Given the description of an element on the screen output the (x, y) to click on. 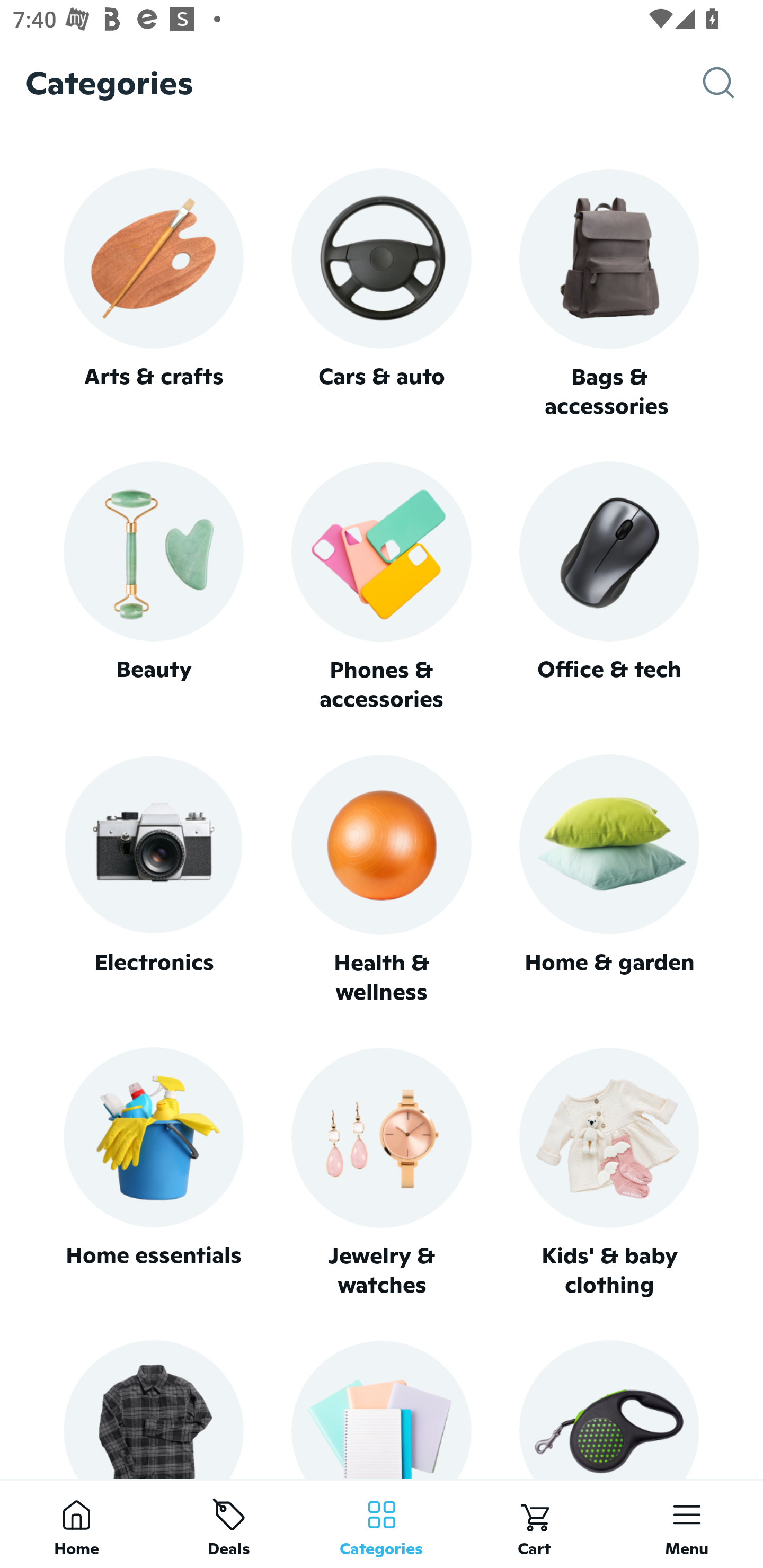
Search (732, 82)
Arts & crafts (153, 293)
Cars & auto (381, 293)
Bags & accessories  (609, 294)
Beauty (153, 586)
Office & tech (609, 586)
Phones & accessories (381, 587)
Electronics (153, 880)
Home & garden (609, 880)
Health & wellness (381, 880)
Home essentials (153, 1172)
Jewelry & watches (381, 1172)
Kids' & baby clothing (609, 1172)
Men's clothing (153, 1409)
Pet supplies (609, 1409)
Office & school supplies (381, 1409)
Home (76, 1523)
Deals (228, 1523)
Categories (381, 1523)
Cart (533, 1523)
Menu (686, 1523)
